Given the description of an element on the screen output the (x, y) to click on. 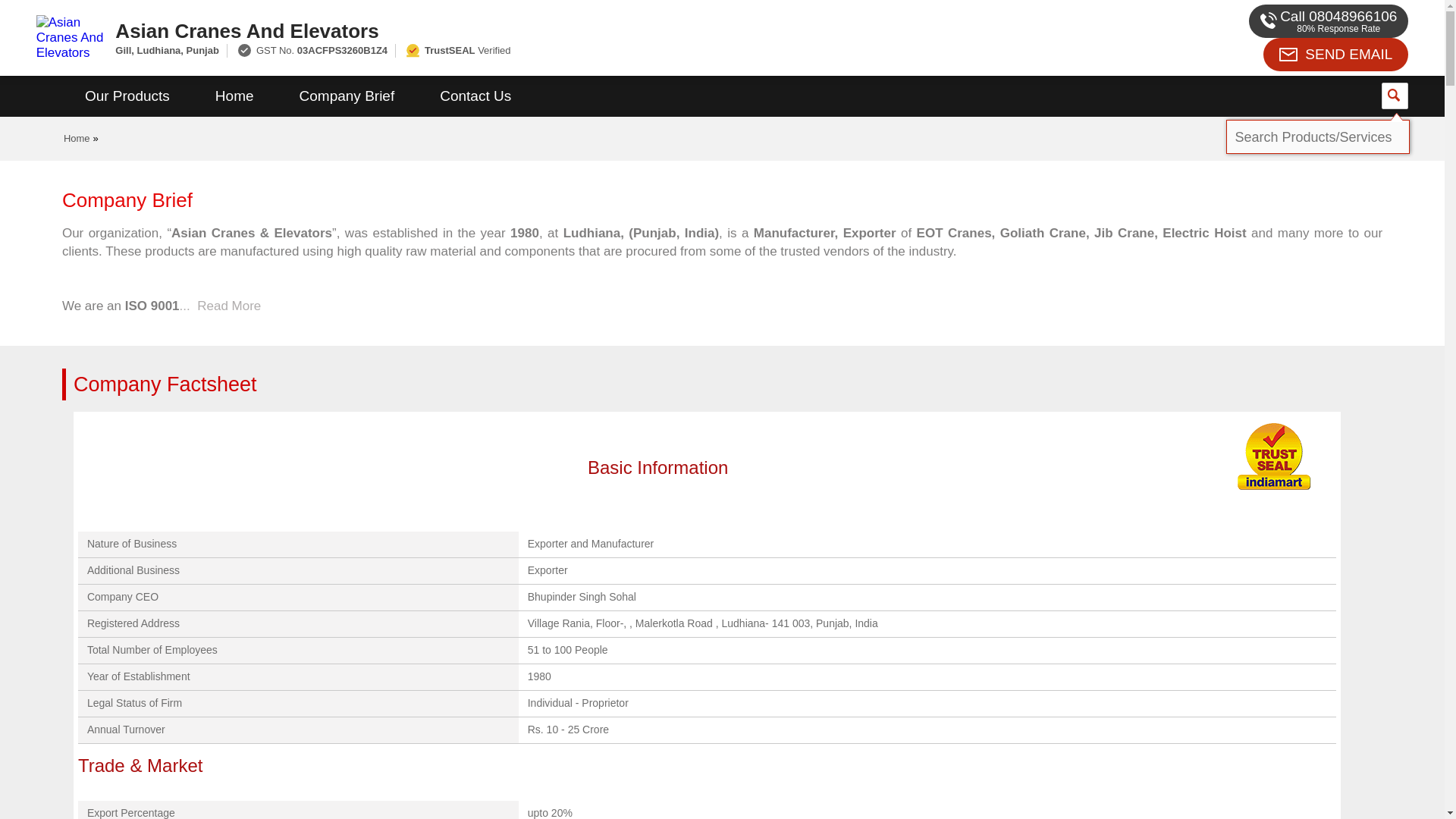
Home (234, 96)
Home (77, 138)
Asian Cranes And Elevators (552, 31)
Contact Us (475, 96)
Company Brief (346, 96)
Our Products (127, 96)
